Given the description of an element on the screen output the (x, y) to click on. 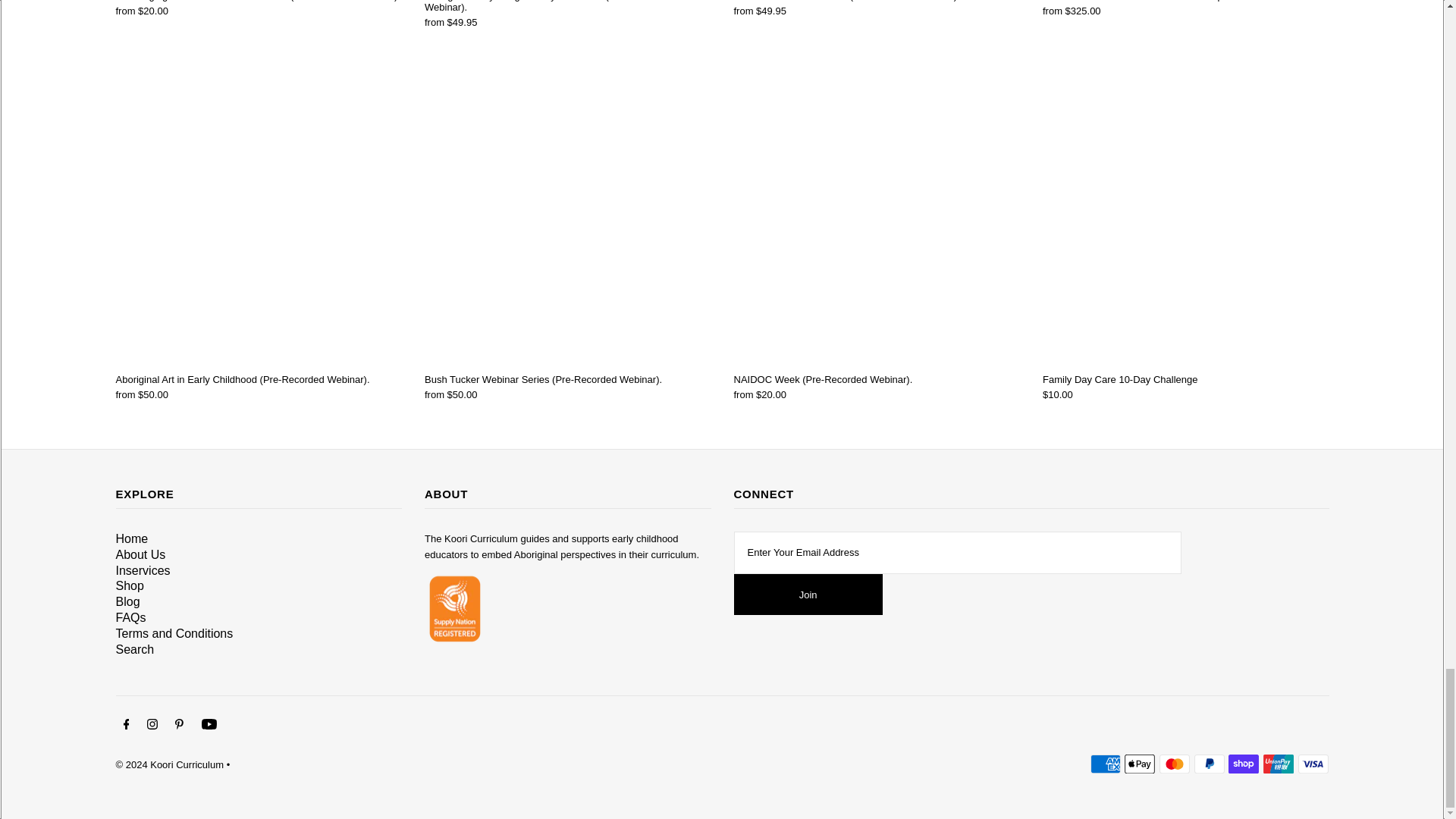
Family Day Care 10-Day Challenge (1185, 219)
Join (807, 594)
